Given the description of an element on the screen output the (x, y) to click on. 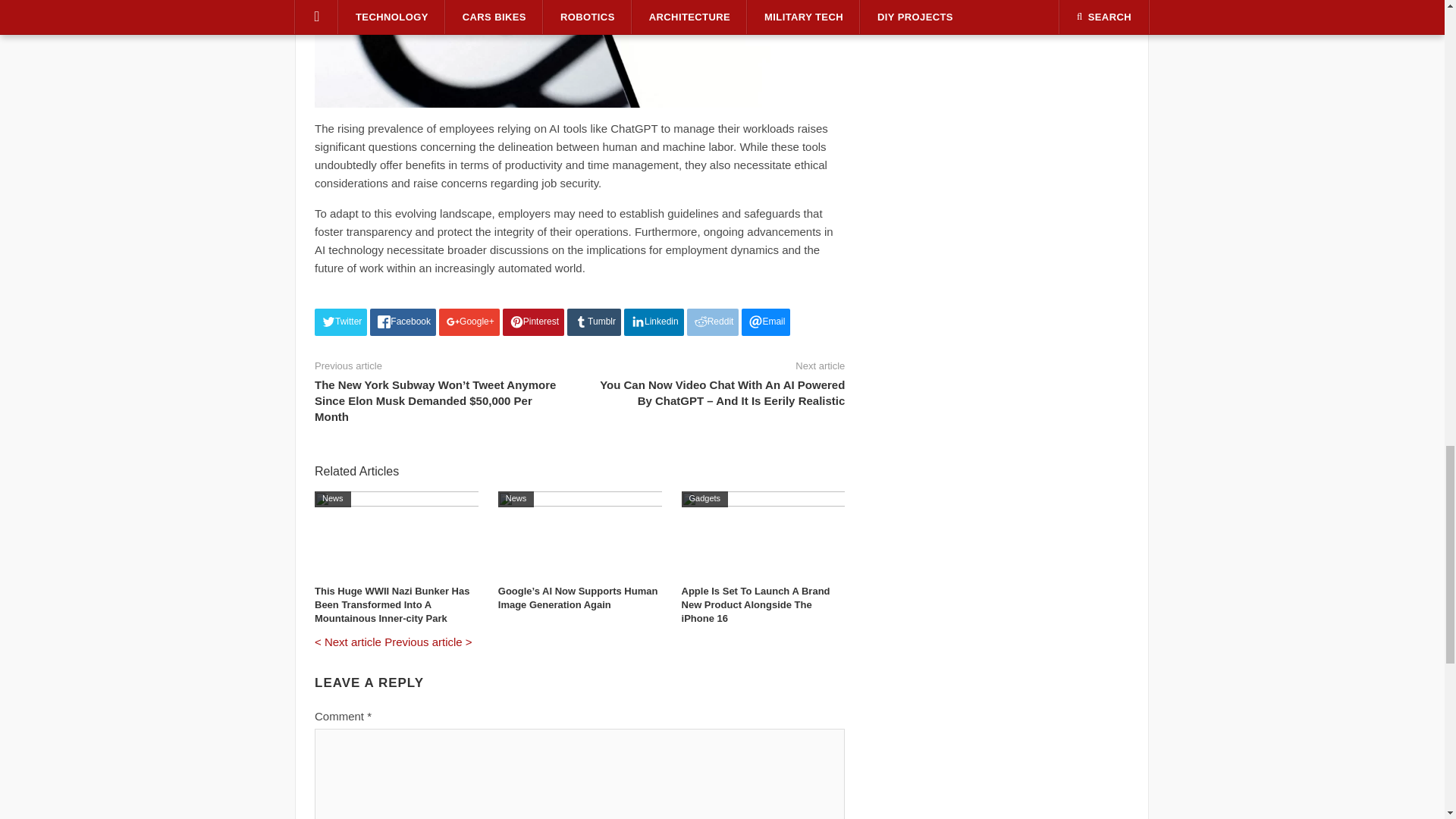
Pinterest (533, 321)
Tumblr (594, 321)
Email (765, 321)
Linkedin (654, 321)
Reddit (713, 321)
Twitter (340, 321)
Facebook (402, 321)
